Given the description of an element on the screen output the (x, y) to click on. 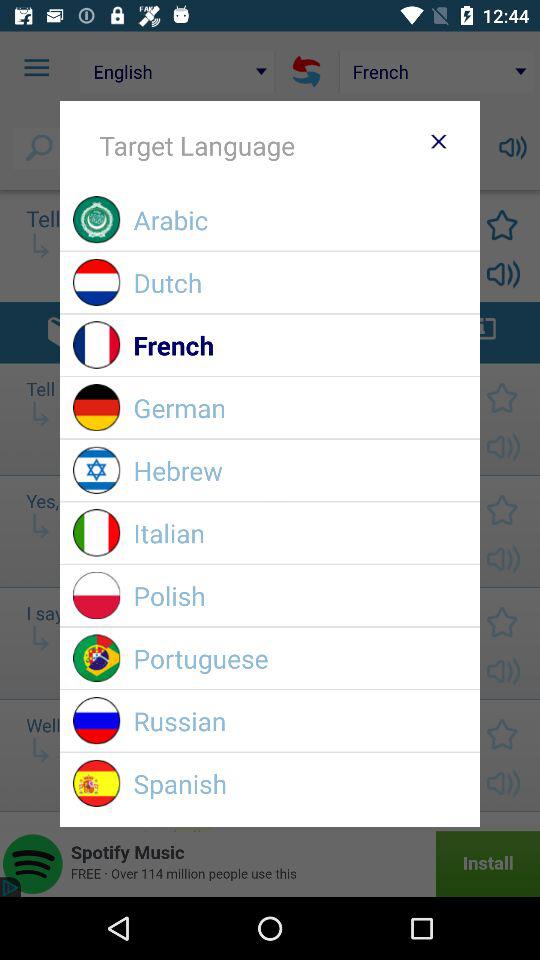
close tab (438, 141)
